Given the description of an element on the screen output the (x, y) to click on. 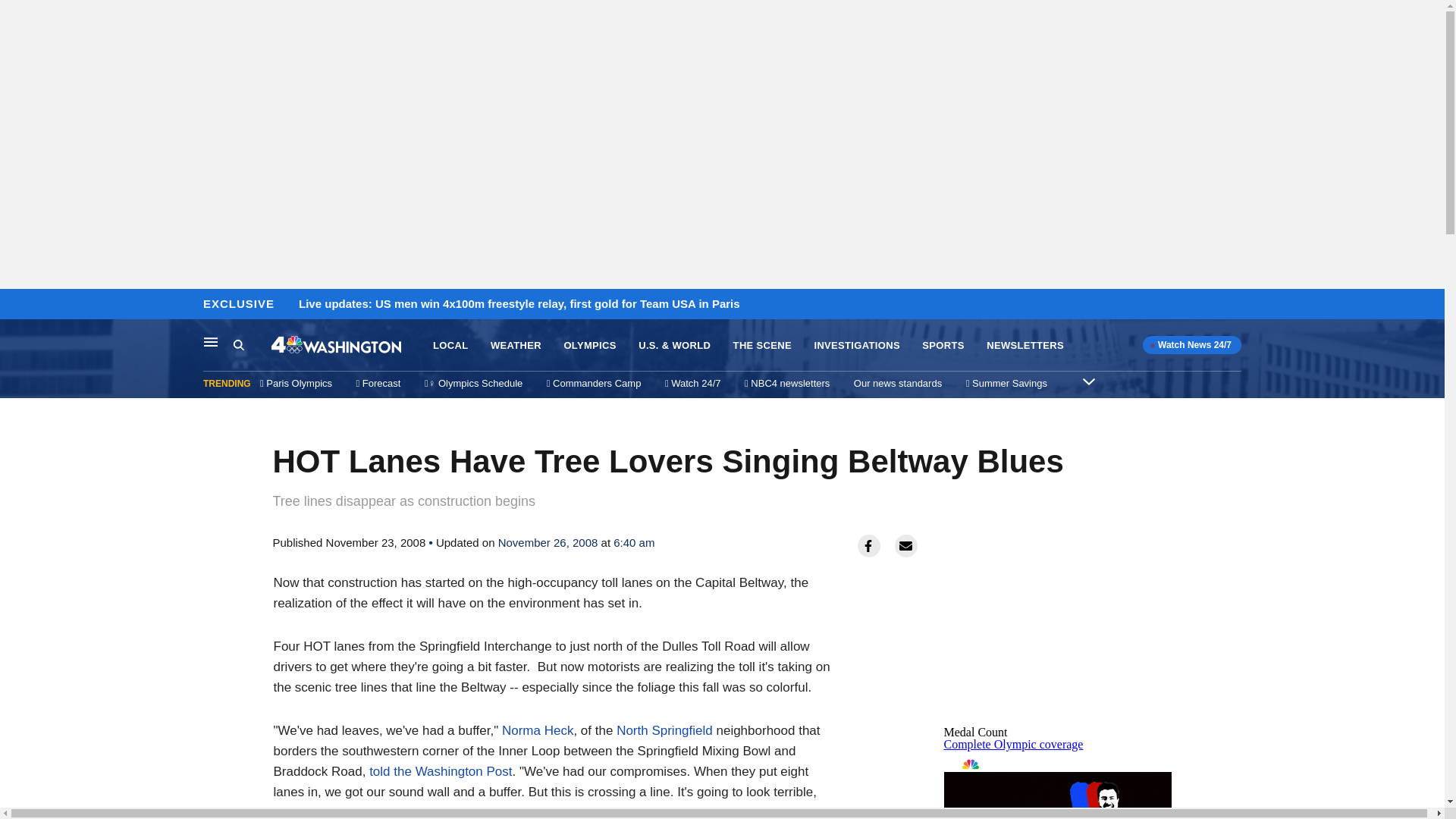
Woodbridge (535, 812)
North Springfield (664, 730)
Norma Heck (537, 730)
Fredericksburg (641, 812)
Norma Heck (537, 730)
THE SCENE (762, 345)
Main Navigation (210, 341)
SPORTS (942, 345)
Search (252, 345)
NEWSLETTERS (1025, 345)
Our news standards (897, 383)
told the Washington Post (440, 771)
OLYMPICS (589, 345)
Tysons Corner (790, 812)
